Given the description of an element on the screen output the (x, y) to click on. 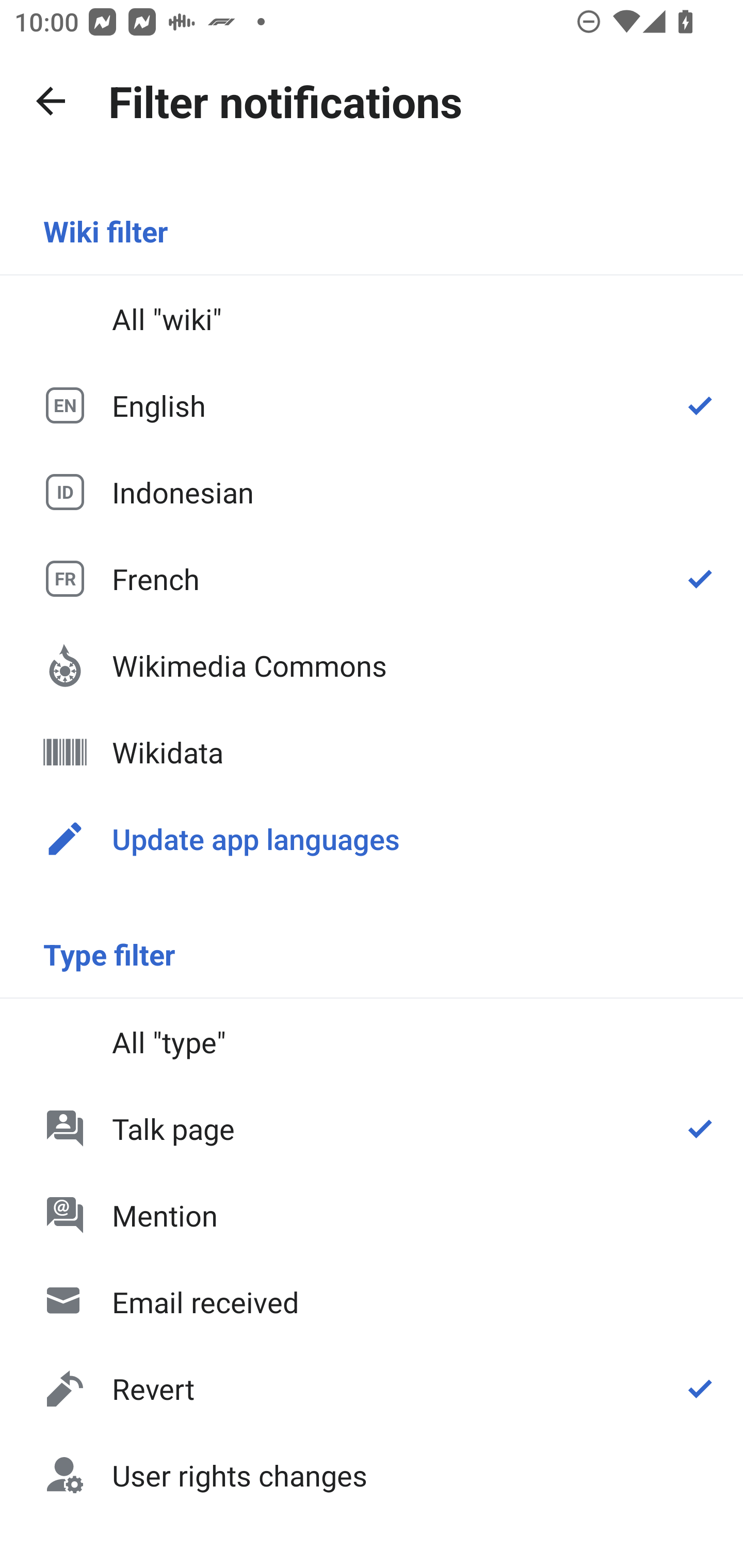
Navigate up (50, 101)
All "wiki" (371, 318)
EN English (371, 405)
ID Indonesian (371, 491)
FR French (371, 578)
Wikimedia Commons (371, 665)
Wikidata (371, 751)
Update app languages (371, 837)
All "type" (371, 1041)
Talk page (371, 1128)
Mention (371, 1215)
Email received (371, 1302)
Revert (371, 1388)
User rights changes (371, 1474)
